Given the description of an element on the screen output the (x, y) to click on. 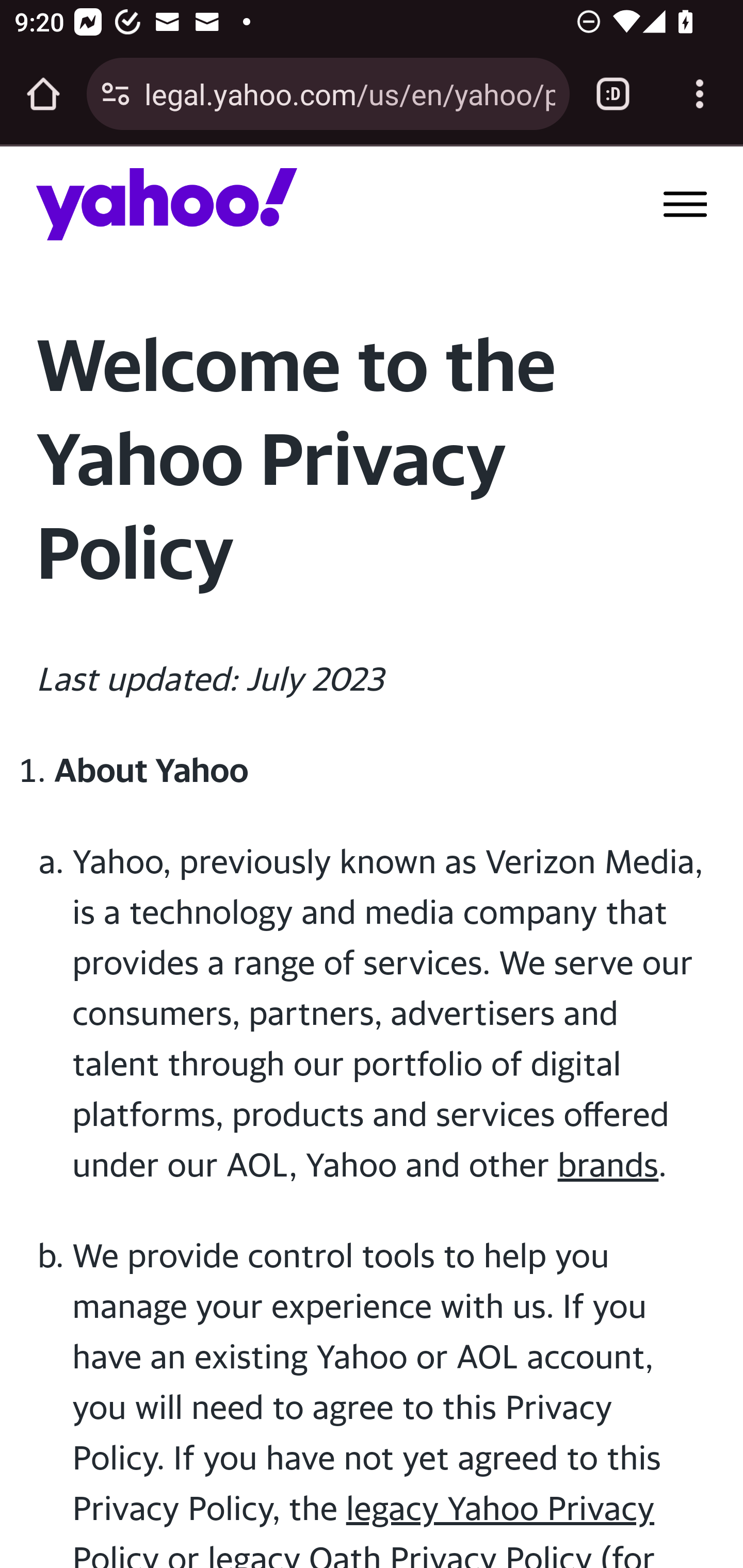
Open the home page (43, 93)
Connection is secure (115, 93)
Switch or close tabs (612, 93)
Customize and control Google Chrome (699, 93)
legal.yahoo.com/us/en/yahoo/privacy/index.html (349, 92)
Yahoo logo (166, 203)
brands (607, 1163)
legacy Yahoo Privacy Policy (363, 1528)
